Given the description of an element on the screen output the (x, y) to click on. 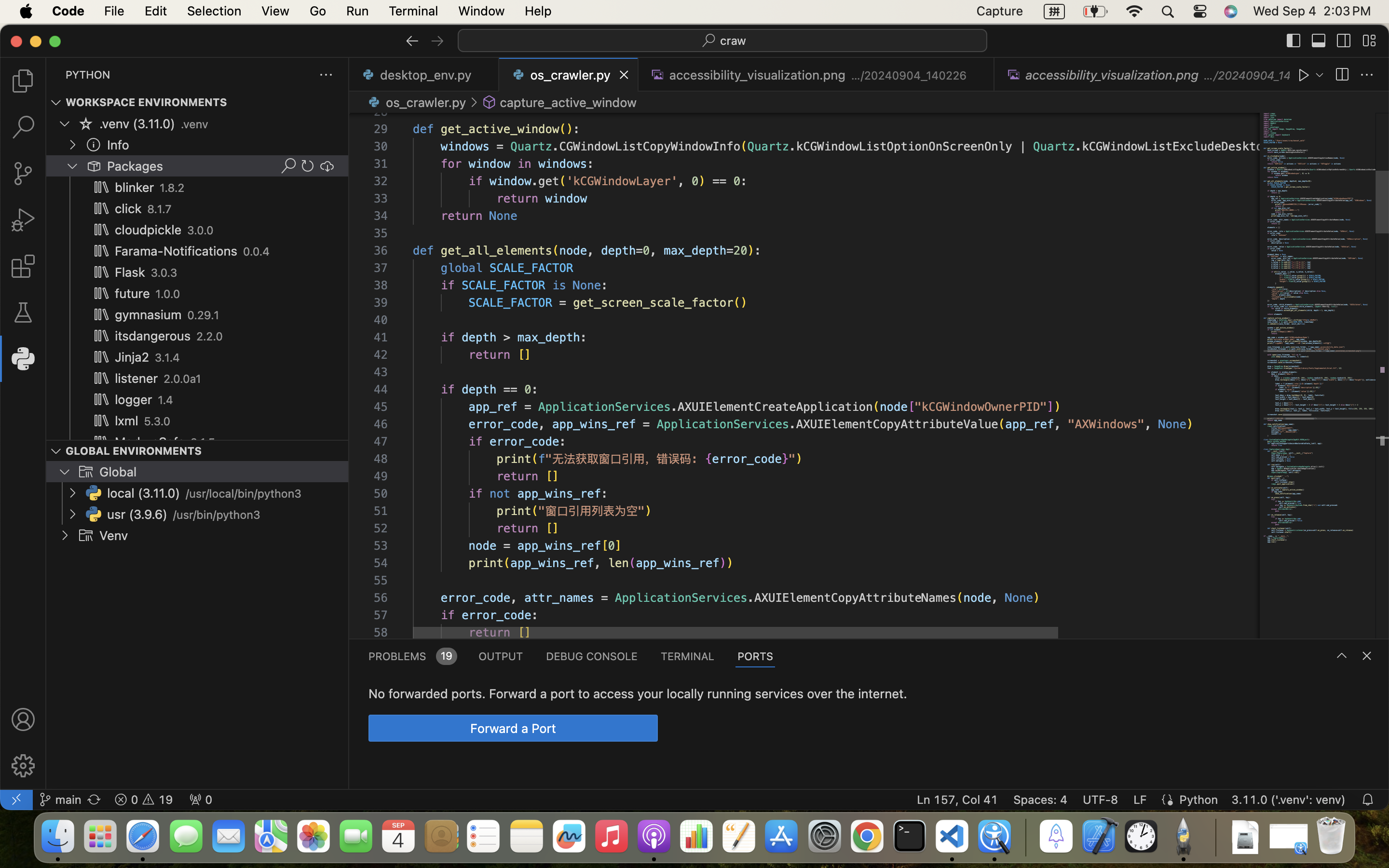
 Element type: AXStaticText (657, 74)
1.0.0 Element type: AXStaticText (167, 293)
 Element type: AXButton (326, 165)
 Element type: AXButton (307, 165)
0  Element type: AXRadioButton (23, 127)
